Given the description of an element on the screen output the (x, y) to click on. 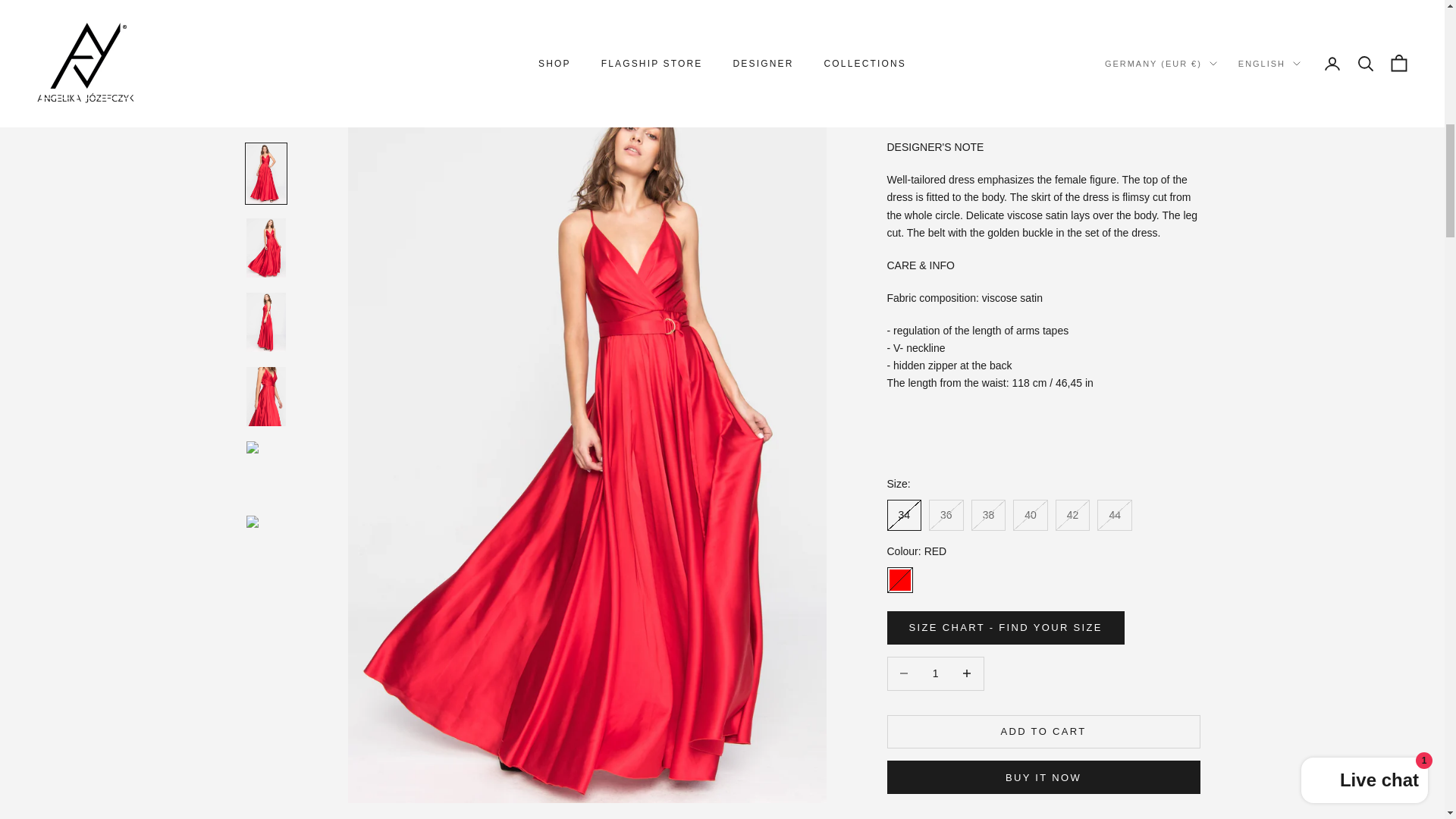
1 (935, 18)
